Given the description of an element on the screen output the (x, y) to click on. 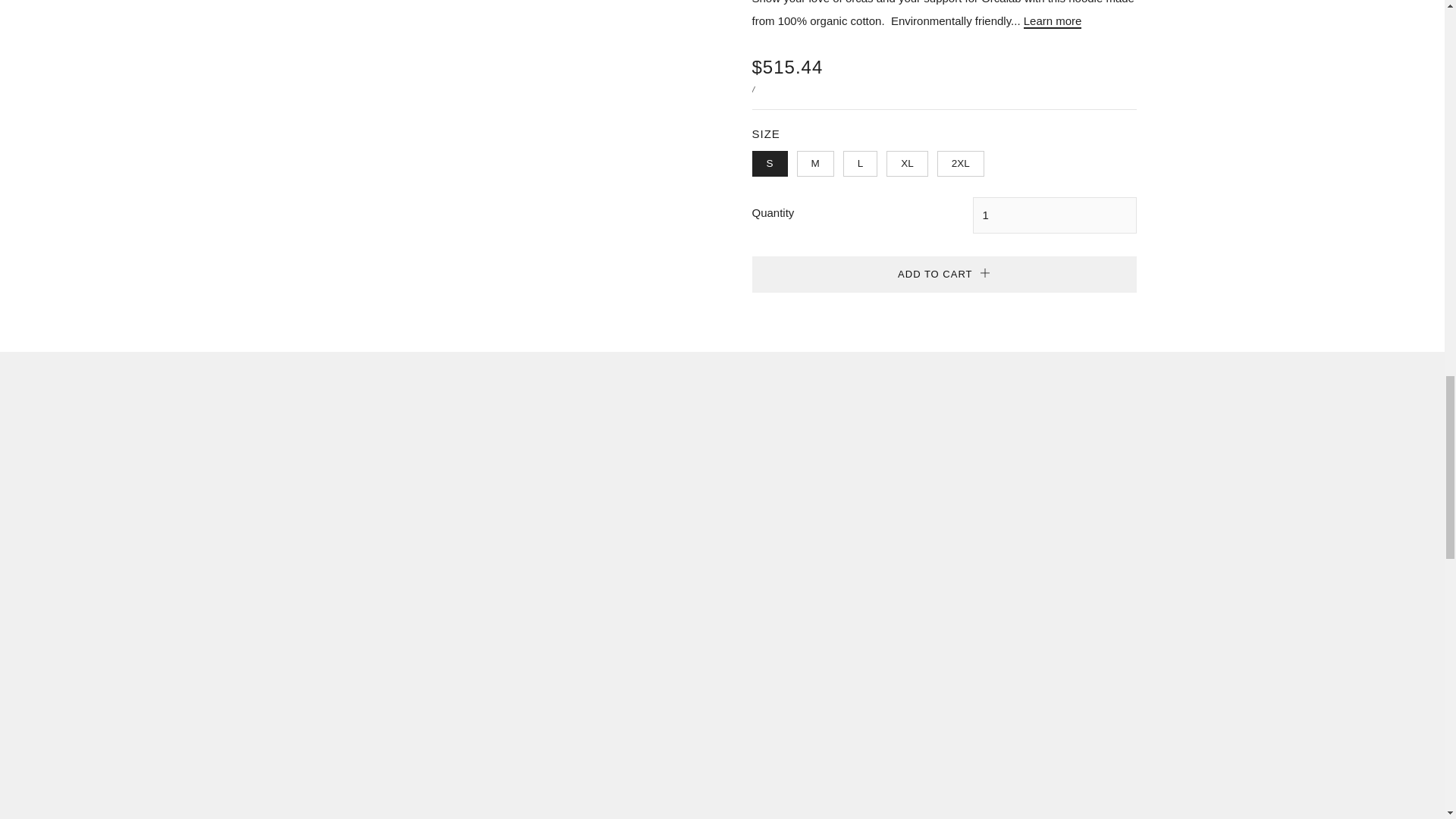
1 (1053, 215)
